Given the description of an element on the screen output the (x, y) to click on. 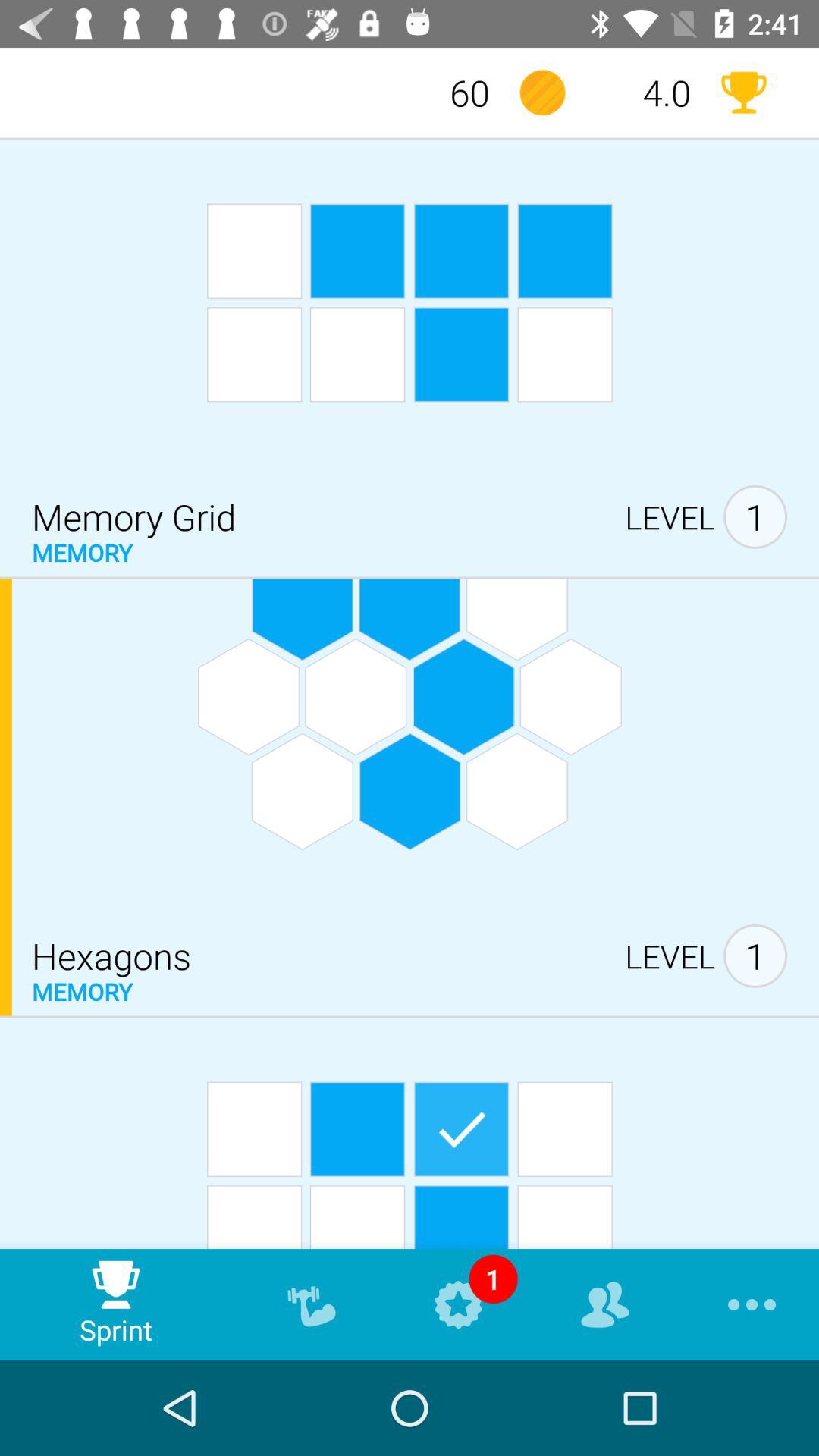
awards (743, 92)
